Given the description of an element on the screen output the (x, y) to click on. 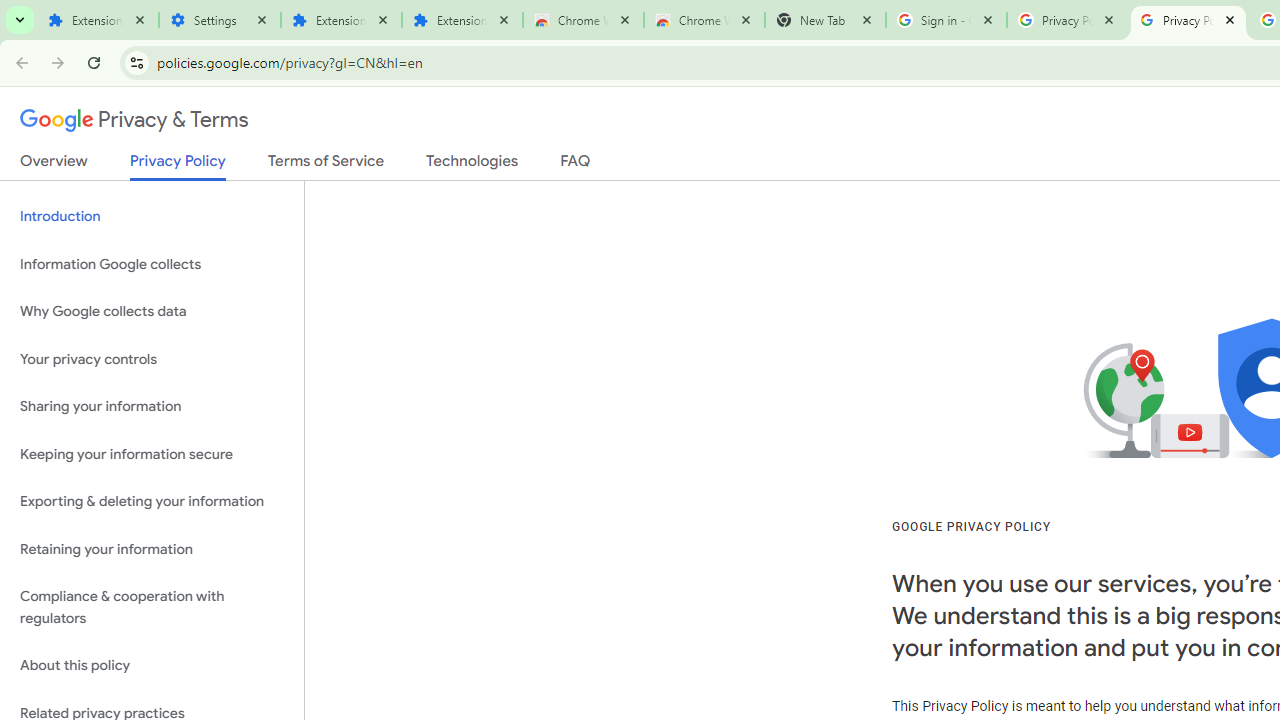
Extensions (97, 20)
Overview (54, 165)
Exporting & deleting your information (152, 502)
Extensions (340, 20)
